Given the description of an element on the screen output the (x, y) to click on. 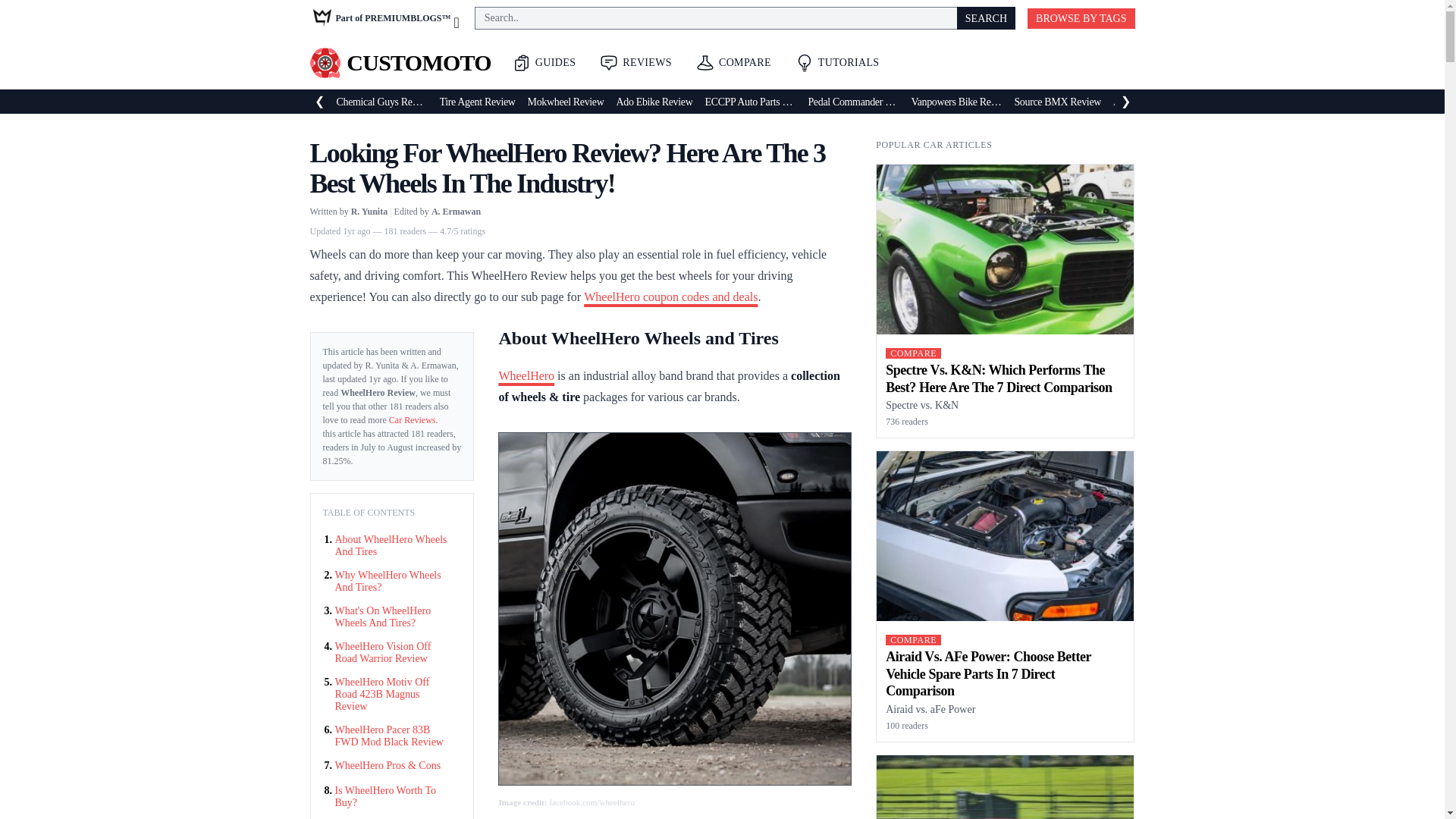
About WheelHero Wheels And Tires (391, 545)
What'S On WheelHero Wheels And Tires? (391, 617)
TUTORIALS (837, 62)
Chemical Guys Review (382, 101)
Vanpowers Bike Review (956, 101)
Ado Ebike Review (654, 101)
Source BMX Review (1056, 101)
BROWSE BY TAGS (1080, 17)
Is WheelHero Worth To Buy? (391, 796)
